Given the description of an element on the screen output the (x, y) to click on. 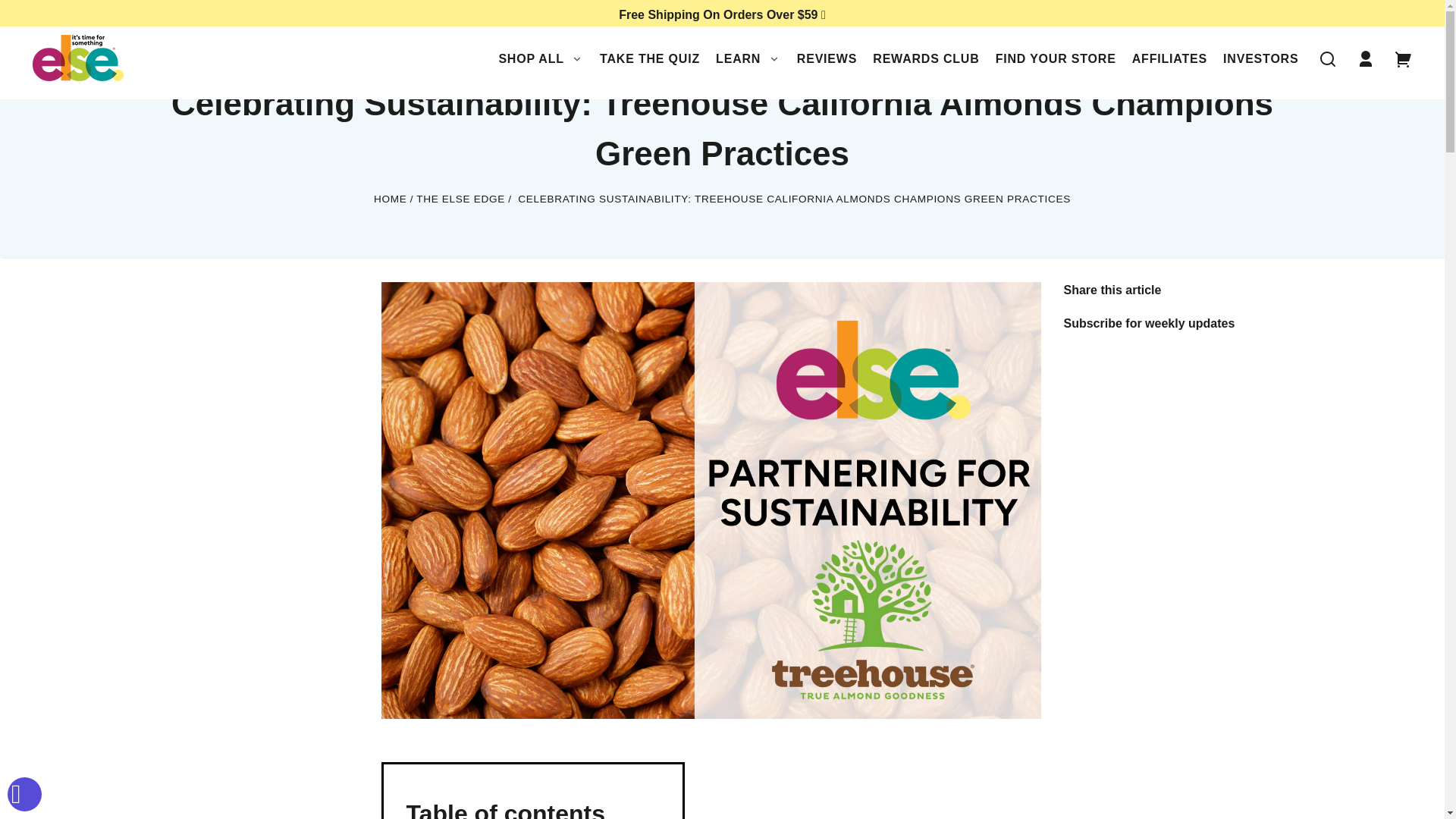
TAKE THE QUIZ (649, 58)
REWARDS CLUB (925, 58)
REVIEWS (826, 58)
THE ELSE EDGE (460, 201)
AFFILIATES (1169, 58)
Skip to content (25, 16)
FIND YOUR STORE (1055, 58)
Log in (1365, 59)
Translation missing: en.cart.name (1404, 59)
HOME (390, 201)
INVESTORS (1260, 58)
